Given the description of an element on the screen output the (x, y) to click on. 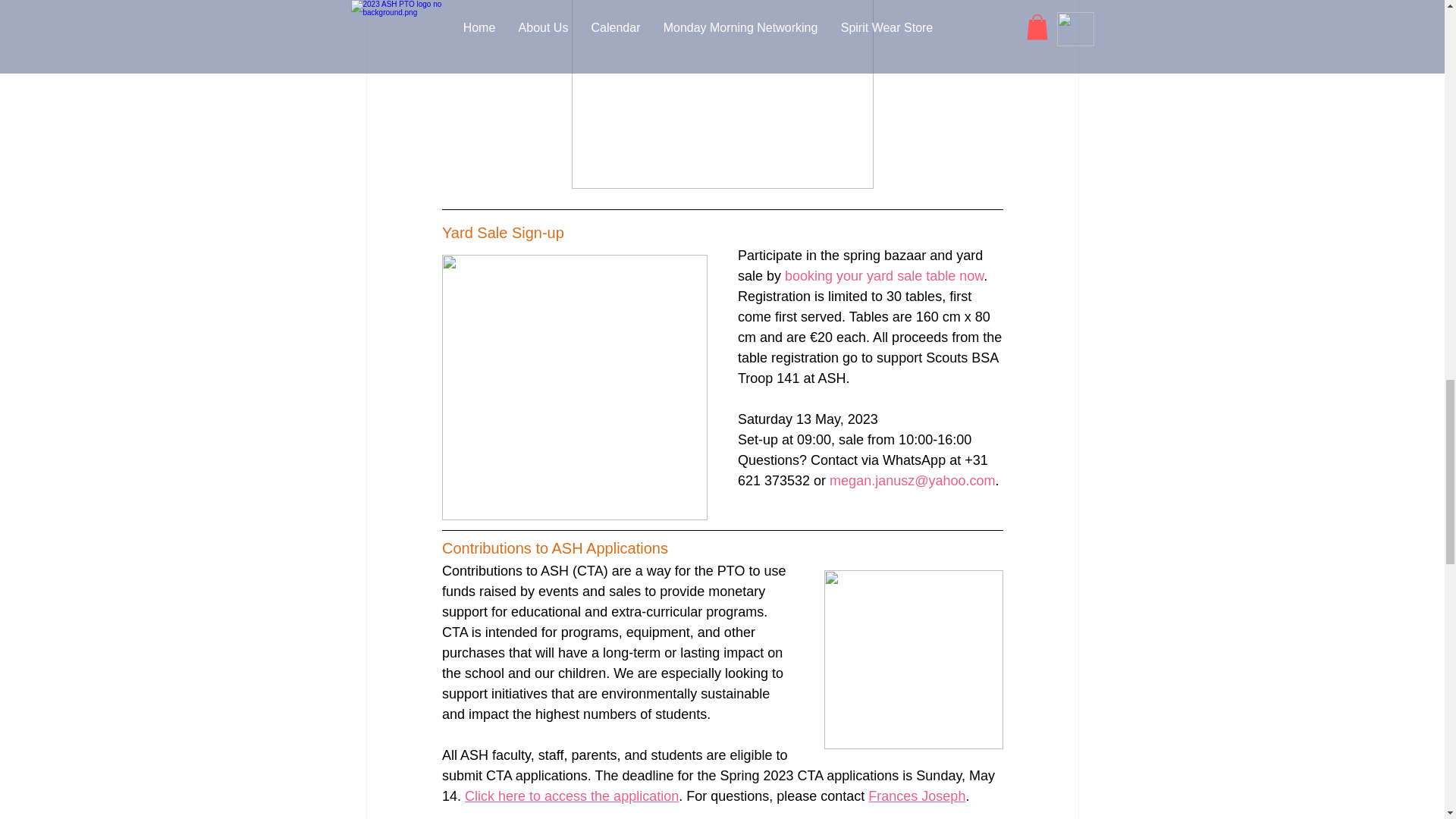
Frances Joseph (916, 795)
Click here to access the application (571, 795)
booking your yard sale table now (884, 275)
